Given the description of an element on the screen output the (x, y) to click on. 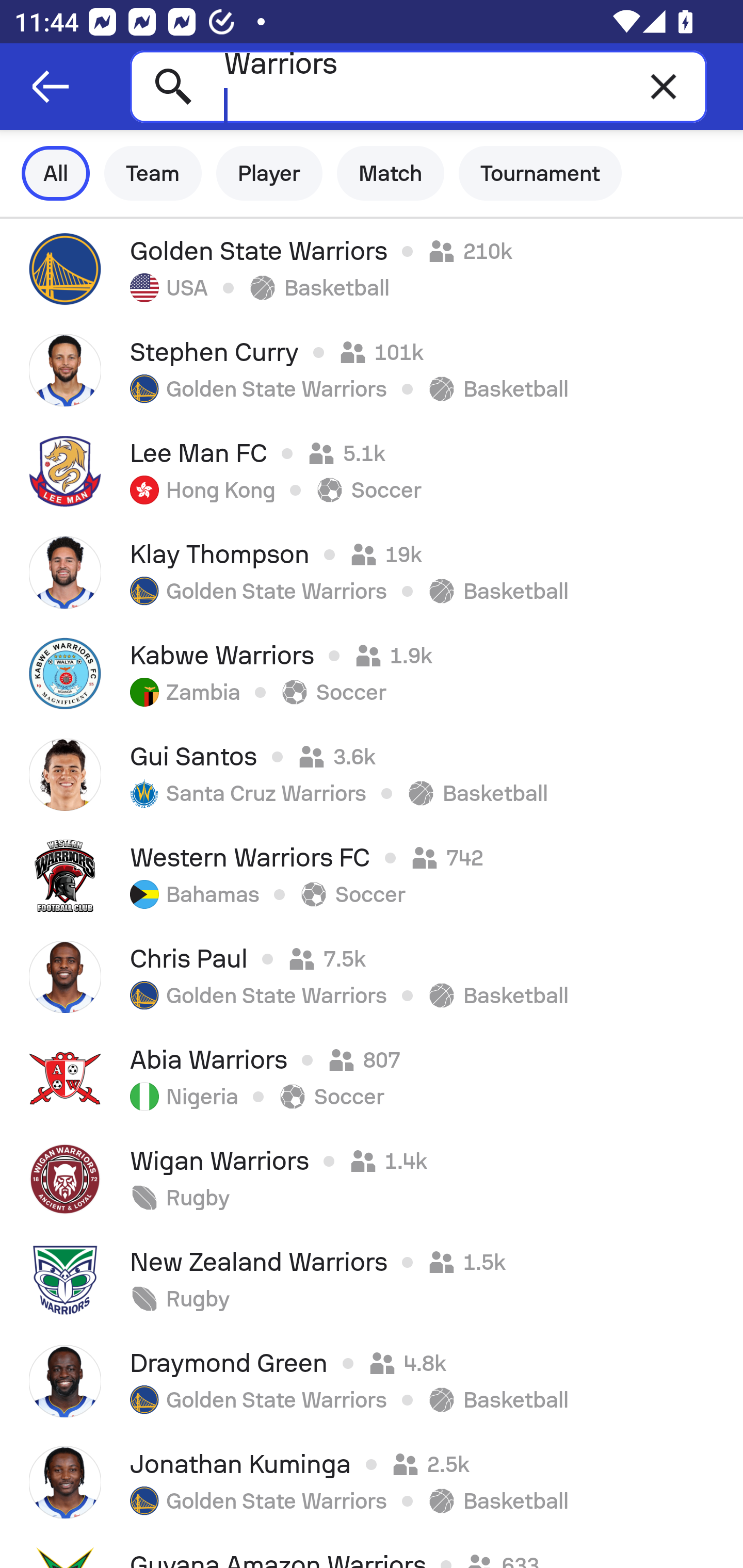
Navigate up (50, 86)
Warriors
 (418, 86)
Clear text (663, 86)
All (55, 172)
Team (152, 172)
Player (268, 172)
Match (390, 172)
Tournament (540, 172)
Golden State Warriors 210k USA Basketball (371, 268)
Lee Man FC 5.1k Hong Kong Soccer (371, 471)
Klay Thompson 19k Golden State Warriors Basketball (371, 572)
Kabwe Warriors 1.9k Zambia Soccer (371, 673)
Gui Santos 3.6k Santa Cruz Warriors Basketball (371, 774)
Western Warriors FC 742 Bahamas Soccer (371, 875)
Chris Paul 7.5k Golden State Warriors Basketball (371, 976)
Abia Warriors 807 Nigeria Soccer (371, 1077)
Wigan Warriors 1.4k Rugby (371, 1178)
New Zealand Warriors 1.5k Rugby (371, 1280)
